Given the description of an element on the screen output the (x, y) to click on. 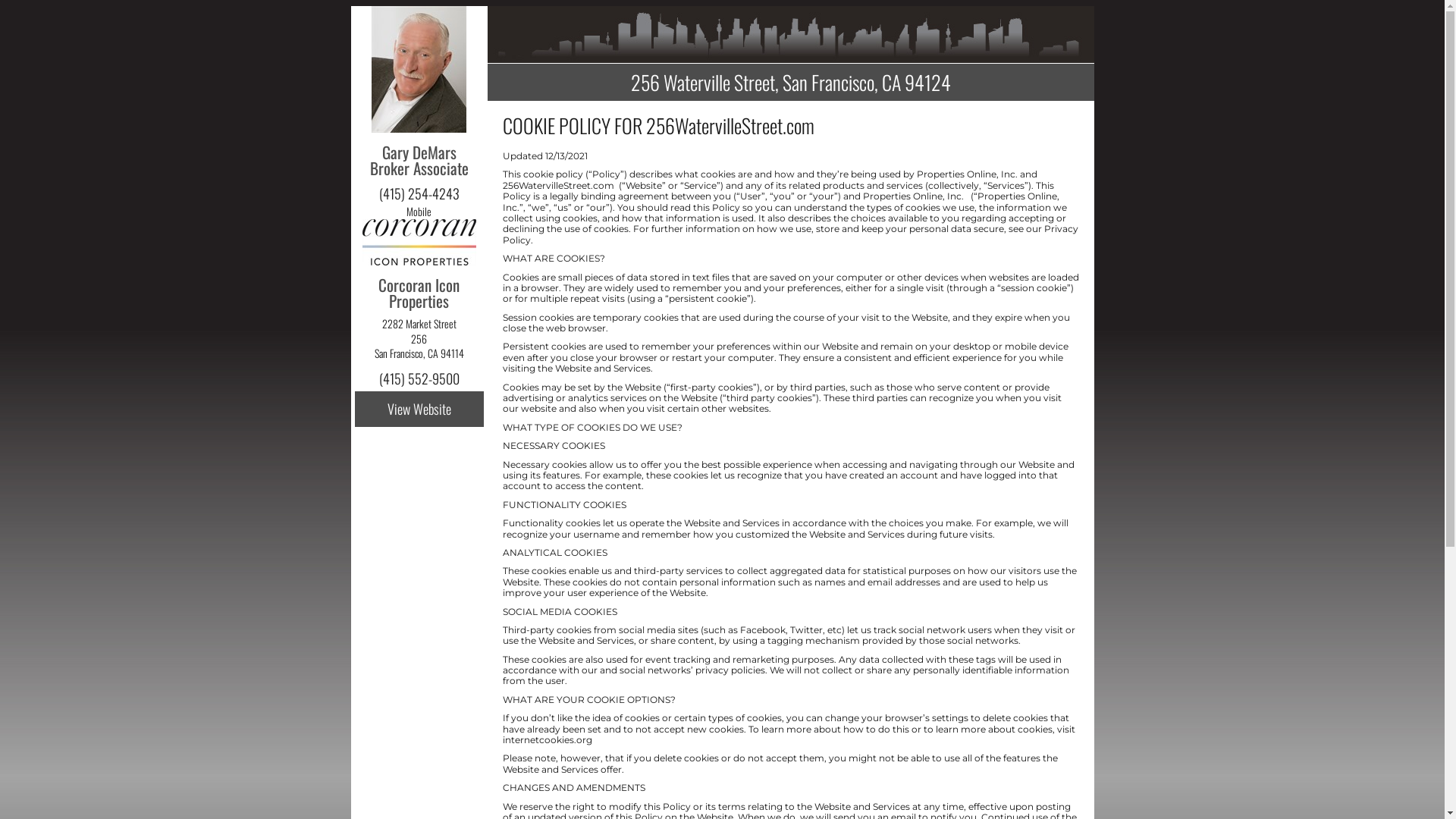
Gary DeMars
Broker Associate Element type: text (419, 167)
internetcookies.org Element type: text (546, 739)
View Website Element type: text (418, 409)
256WatervilleStreet.com Element type: text (730, 125)
